Given the description of an element on the screen output the (x, y) to click on. 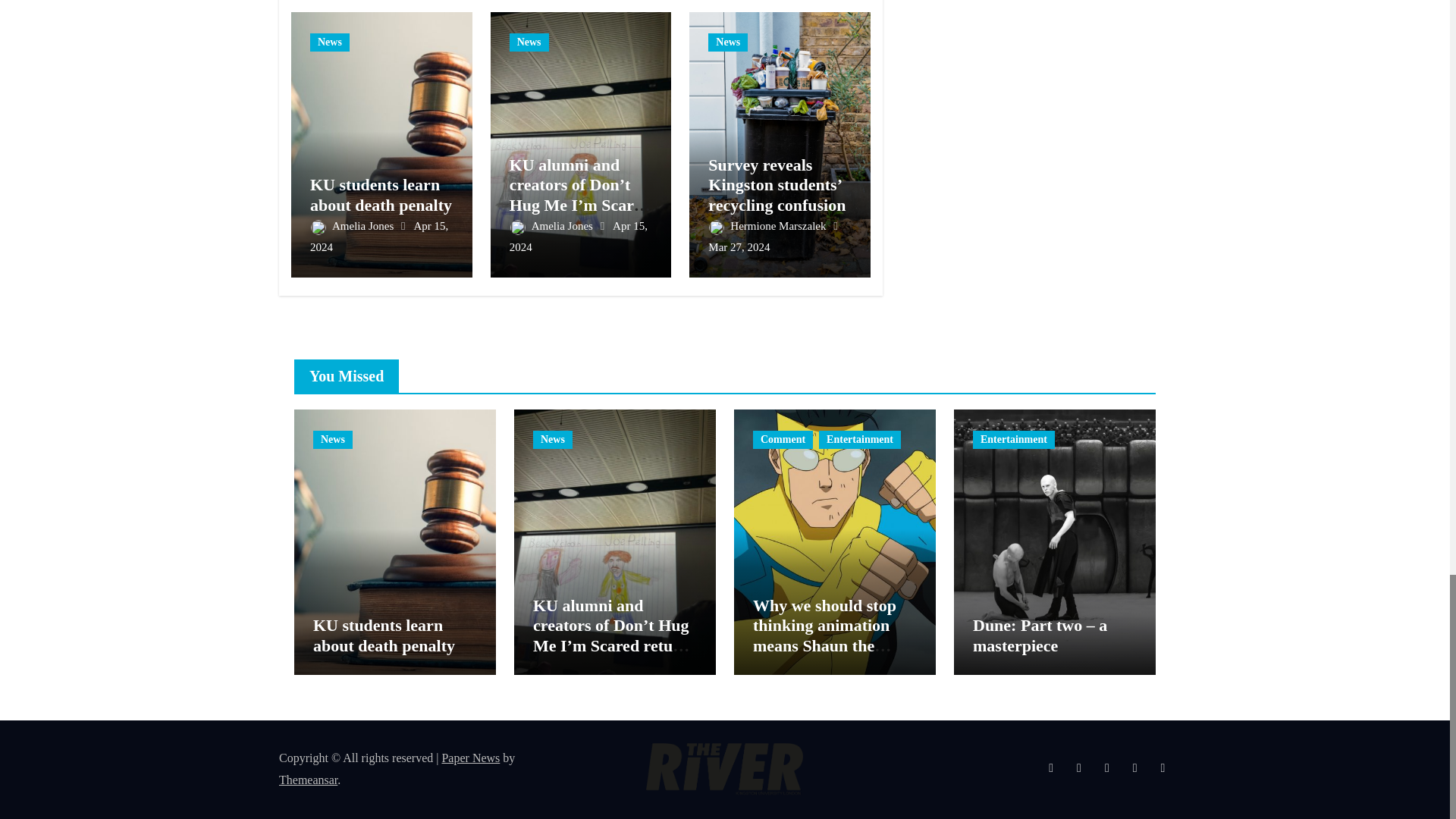
Permalink to: KU students learn about death penalty (380, 194)
